Given the description of an element on the screen output the (x, y) to click on. 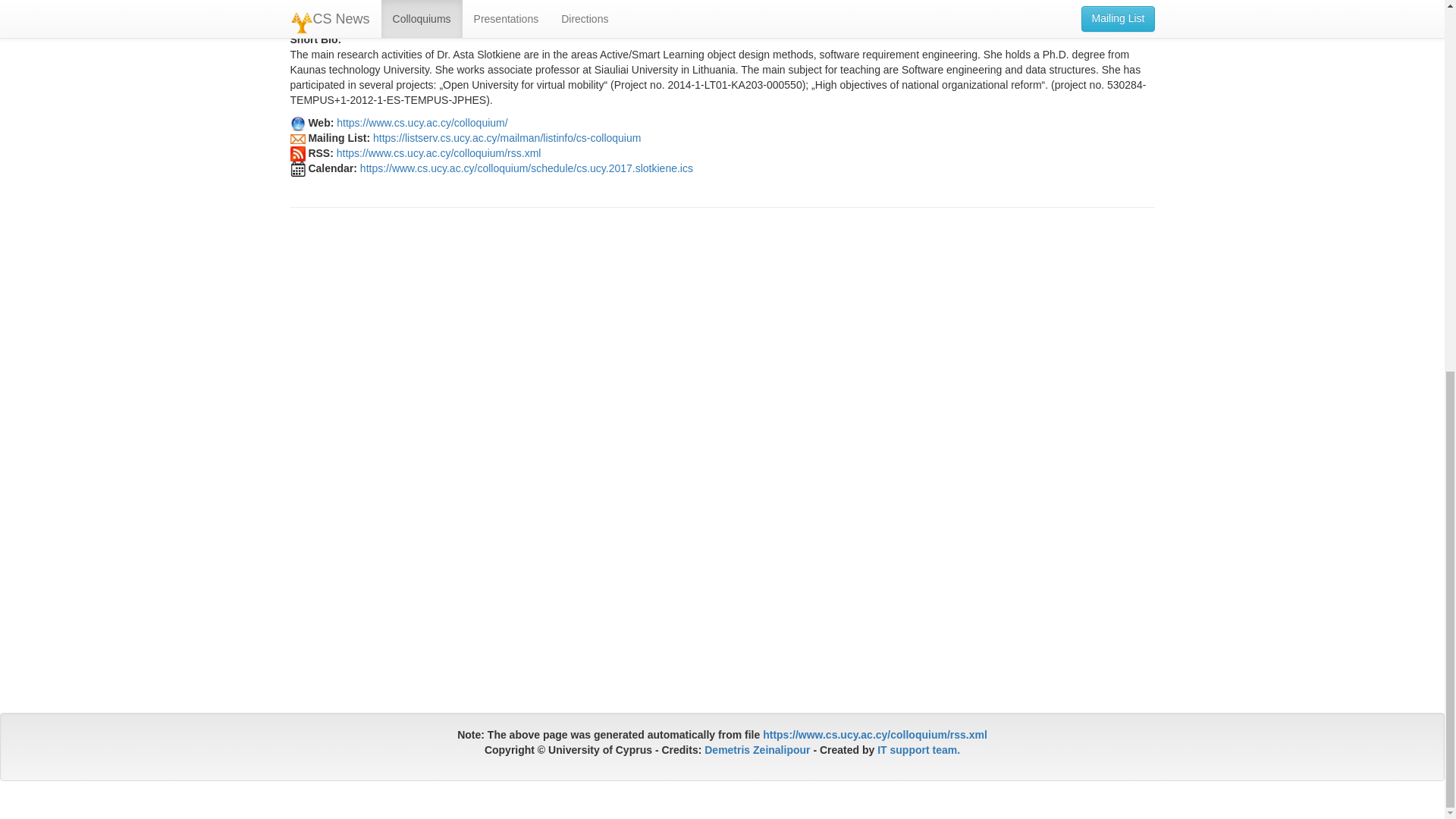
IT support team. (918, 749)
Demetris Zeinalipour (756, 749)
